Given the description of an element on the screen output the (x, y) to click on. 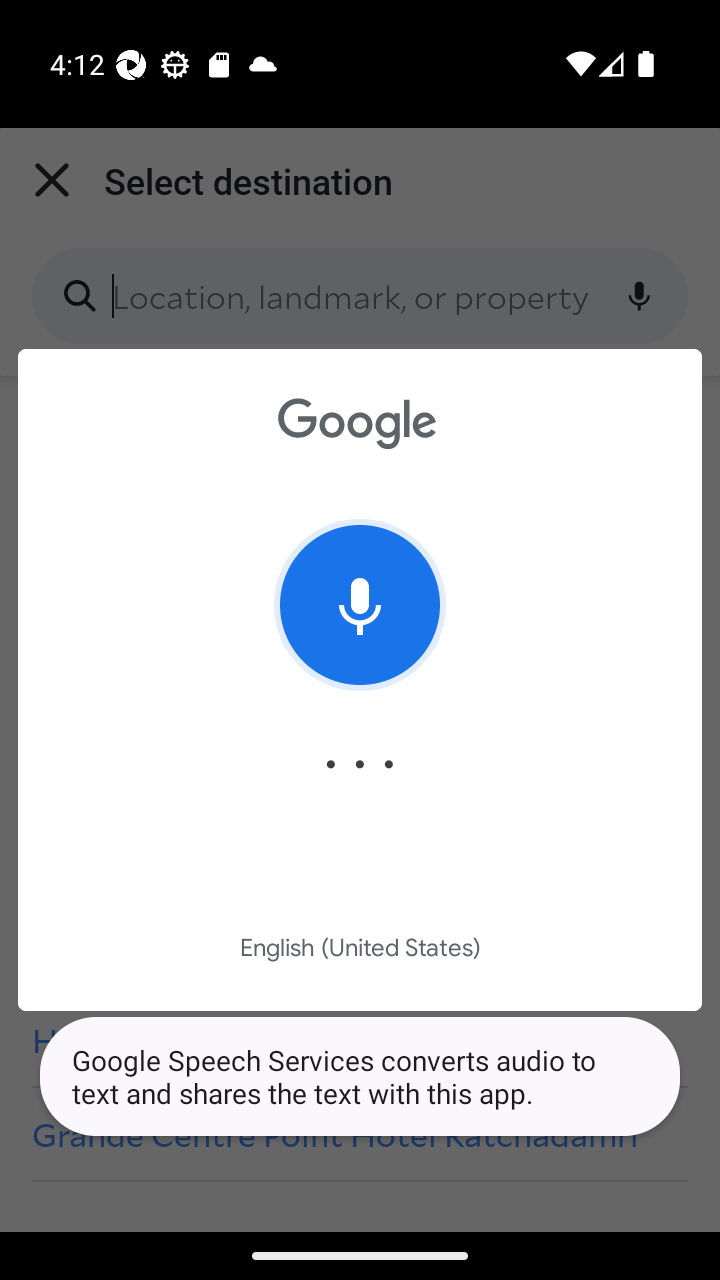
Tap to stop listening (359, 604)
